Given the description of an element on the screen output the (x, y) to click on. 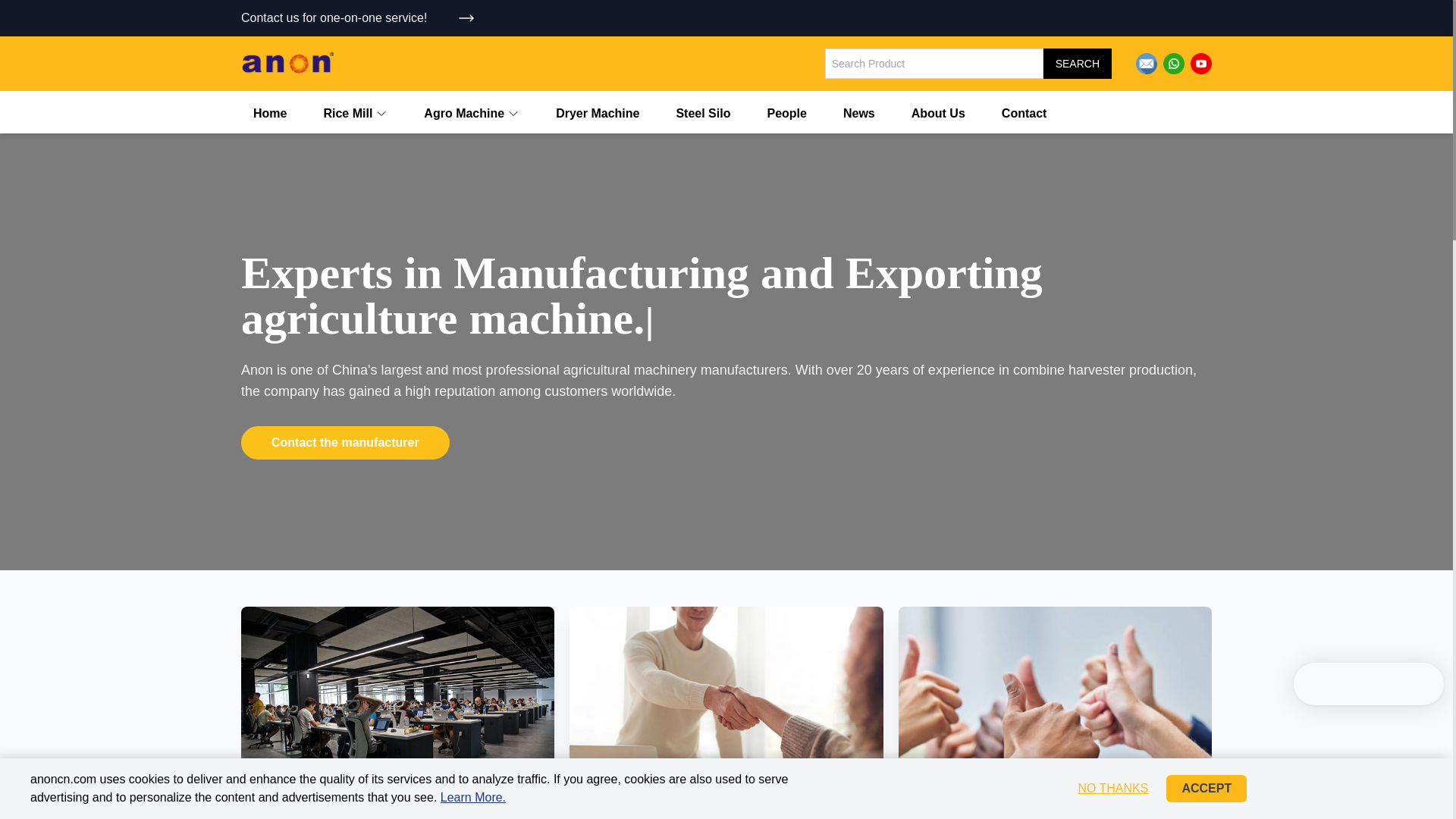
Anon Home (287, 63)
SEARCH (1077, 63)
Agricultural Machinery Promotion (358, 18)
Contact us for one-on-one service! (358, 18)
